Given the description of an element on the screen output the (x, y) to click on. 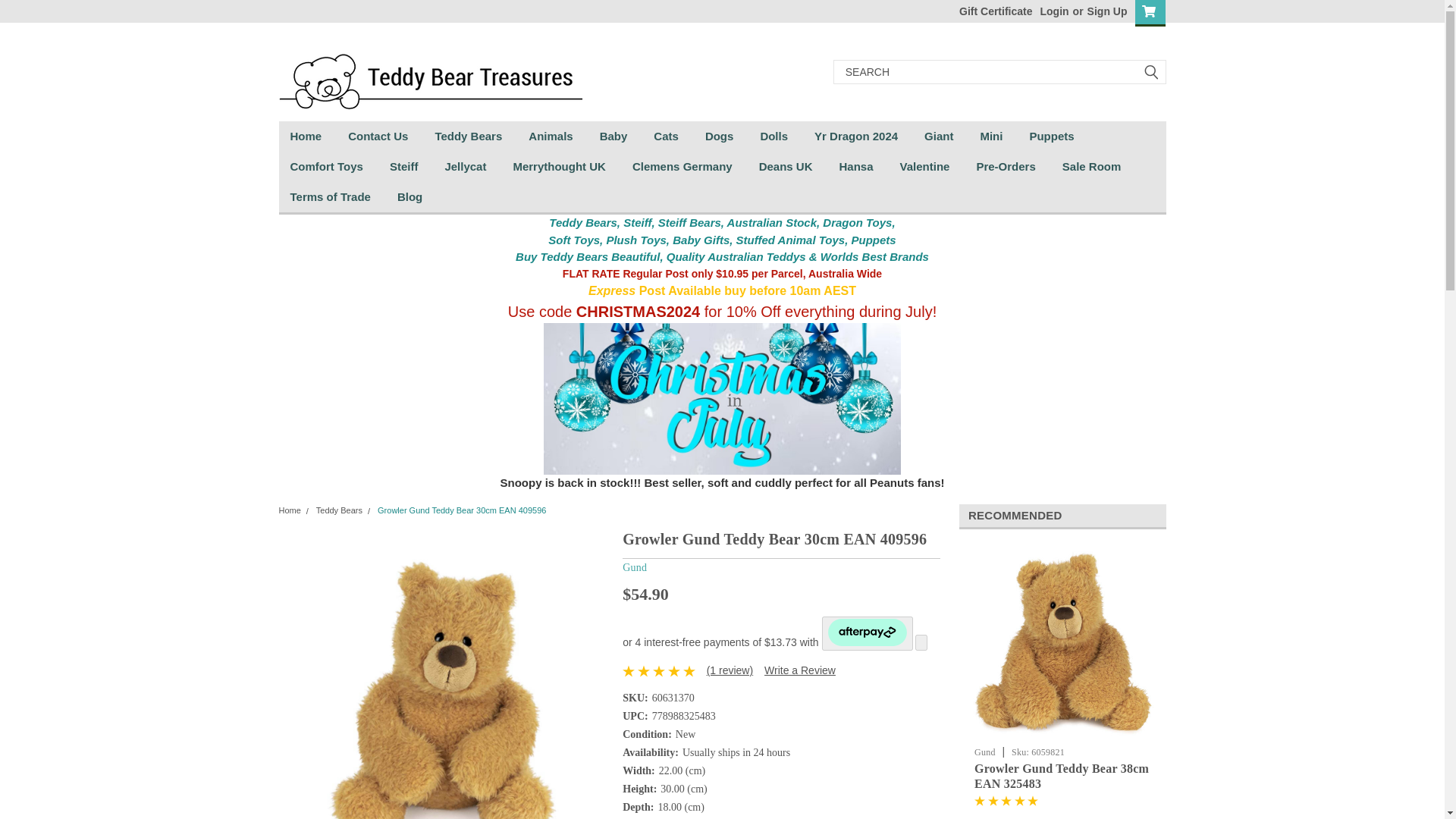
submit (1150, 71)
Teddy Bear Treasures (430, 71)
Sign Up (1104, 11)
Growler Gund Teddy Bear 30cm EAN 409596 (445, 673)
Growler Gund Teddy Bear 38cm EAN 325483 (1062, 643)
Login (1054, 11)
Gift Certificate (992, 11)
